Given the description of an element on the screen output the (x, y) to click on. 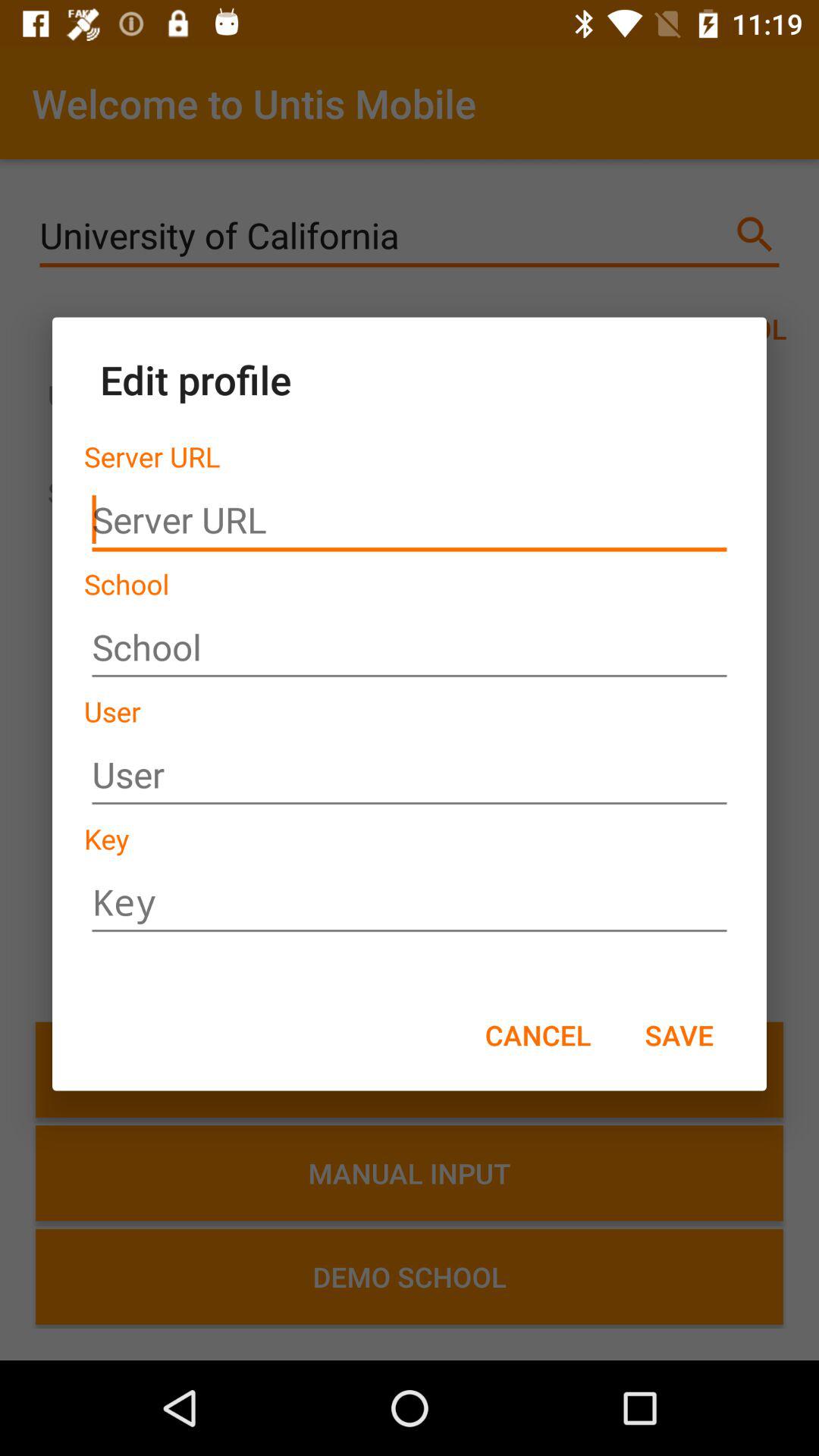
press the icon at the bottom right corner (678, 1034)
